Given the description of an element on the screen output the (x, y) to click on. 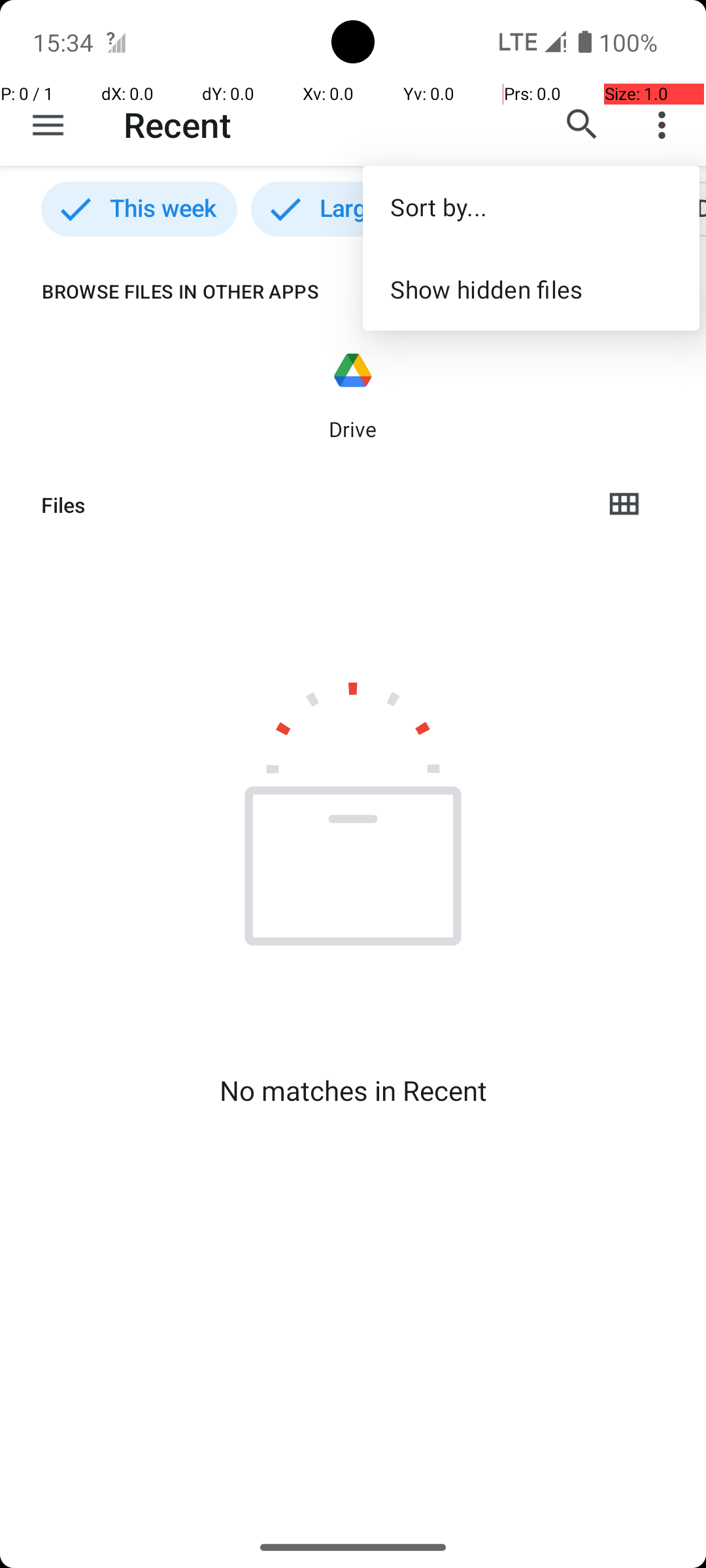
Show hidden files Element type: android.widget.TextView (531, 288)
